Given the description of an element on the screen output the (x, y) to click on. 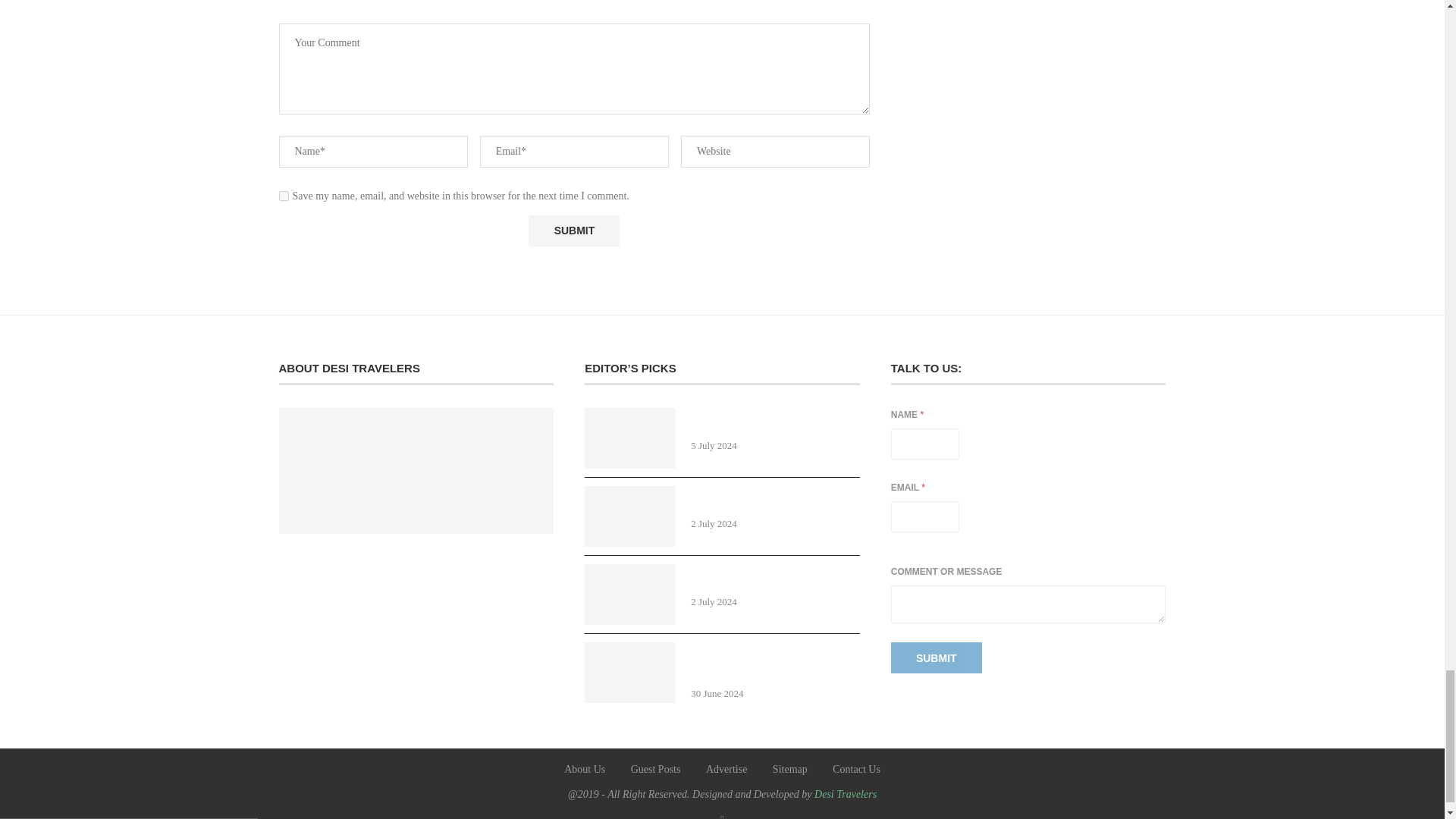
yes (283, 195)
Submit (574, 230)
